Given the description of an element on the screen output the (x, y) to click on. 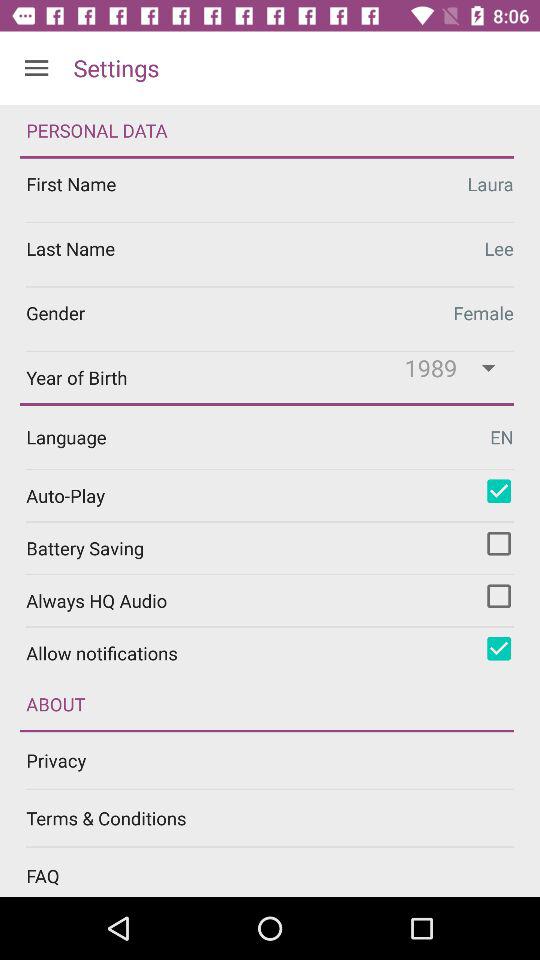
toggle notifications (499, 648)
